Given the description of an element on the screen output the (x, y) to click on. 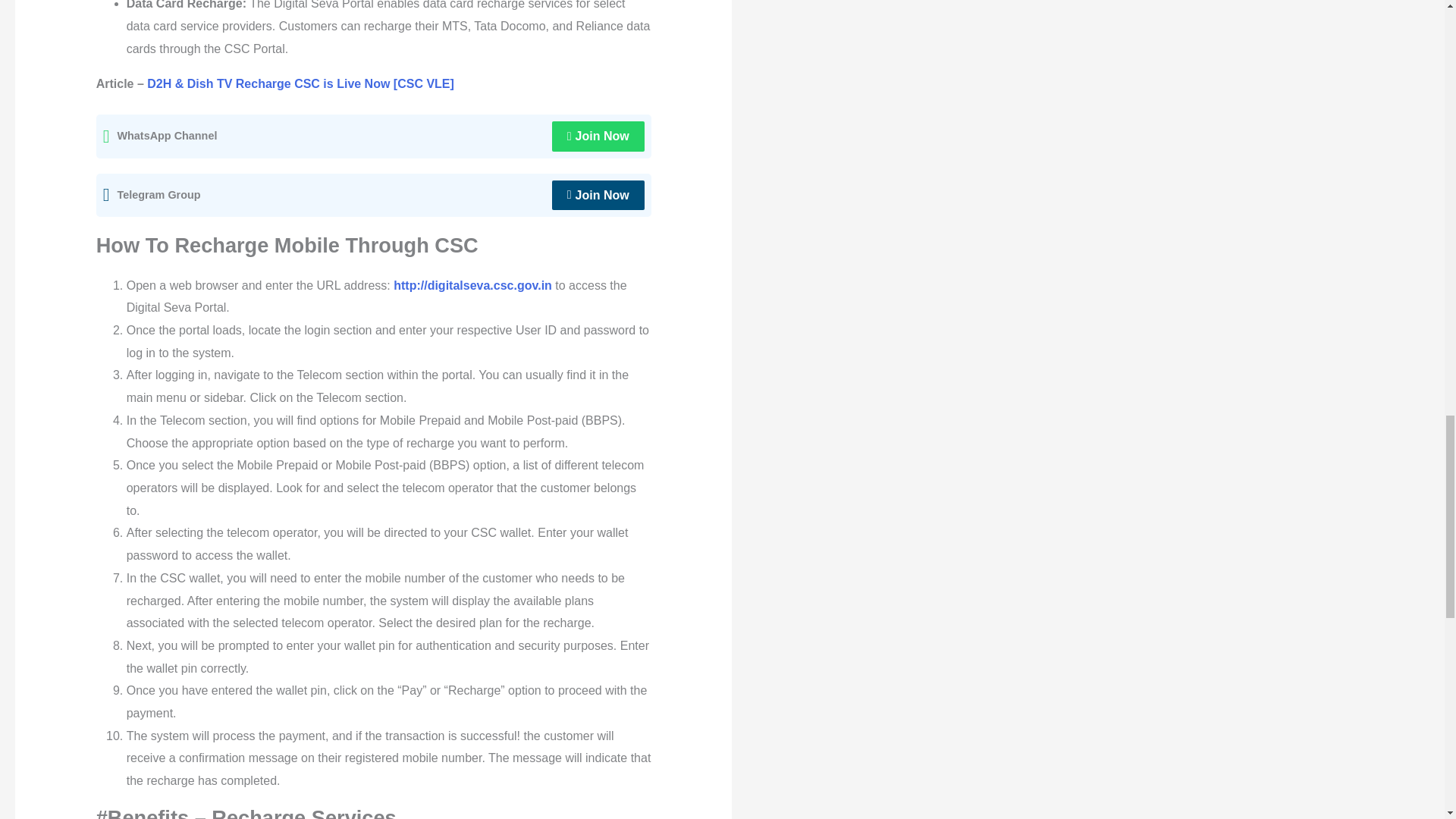
Join Now (598, 195)
Join Now (598, 136)
